Given the description of an element on the screen output the (x, y) to click on. 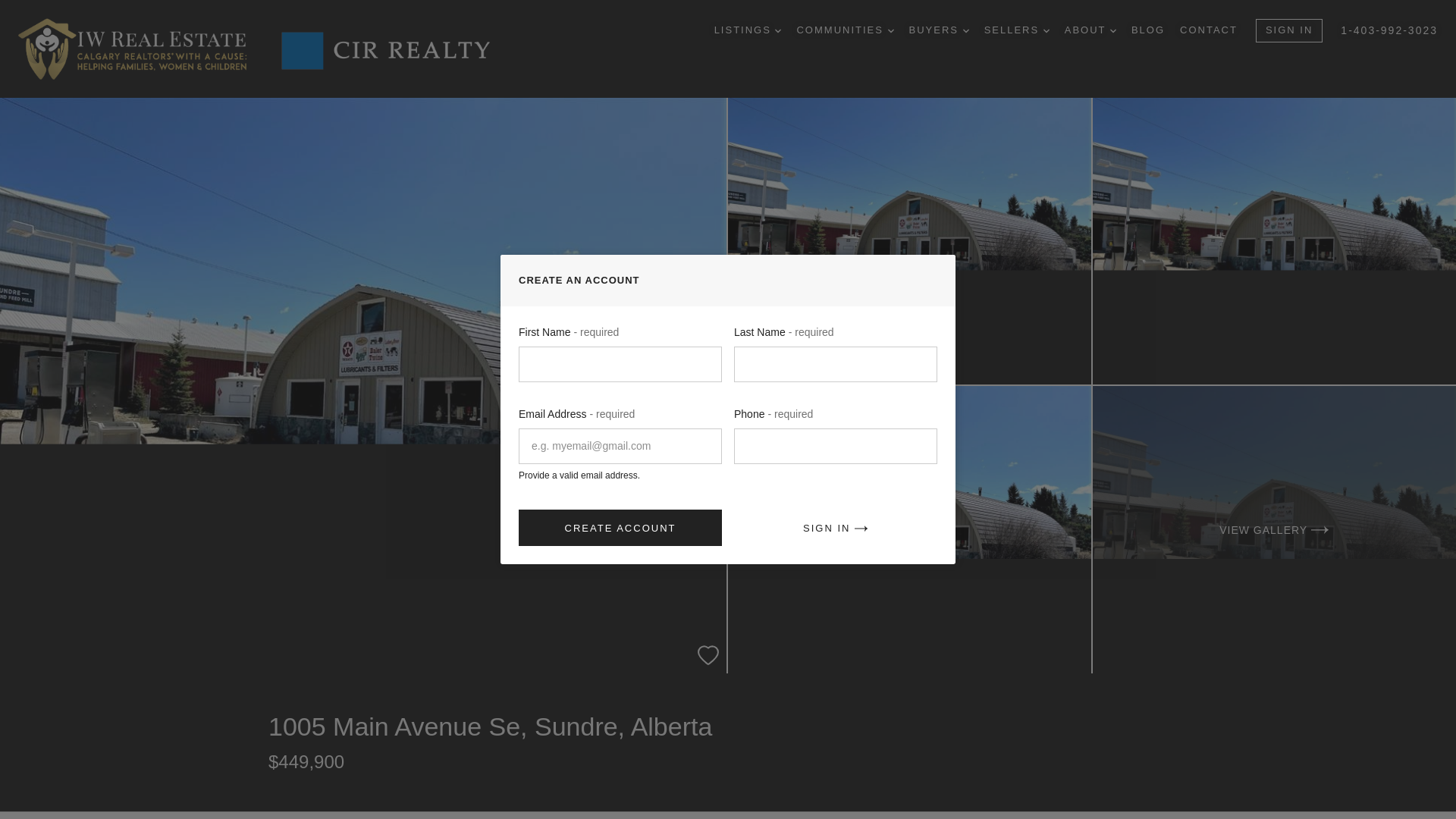
CONTACT (1208, 30)
ABOUT DROPDOWN ARROW (1090, 30)
DROPDOWN ARROW (777, 30)
DROPDOWN ARROW (1046, 30)
BLOG (1147, 30)
LISTINGS DROPDOWN ARROW (747, 30)
SELLERS DROPDOWN ARROW (1016, 30)
BUYERS DROPDOWN ARROW (938, 30)
DROPDOWN ARROW (890, 30)
COMMUNITIES DROPDOWN ARROW (844, 30)
